Given the description of an element on the screen output the (x, y) to click on. 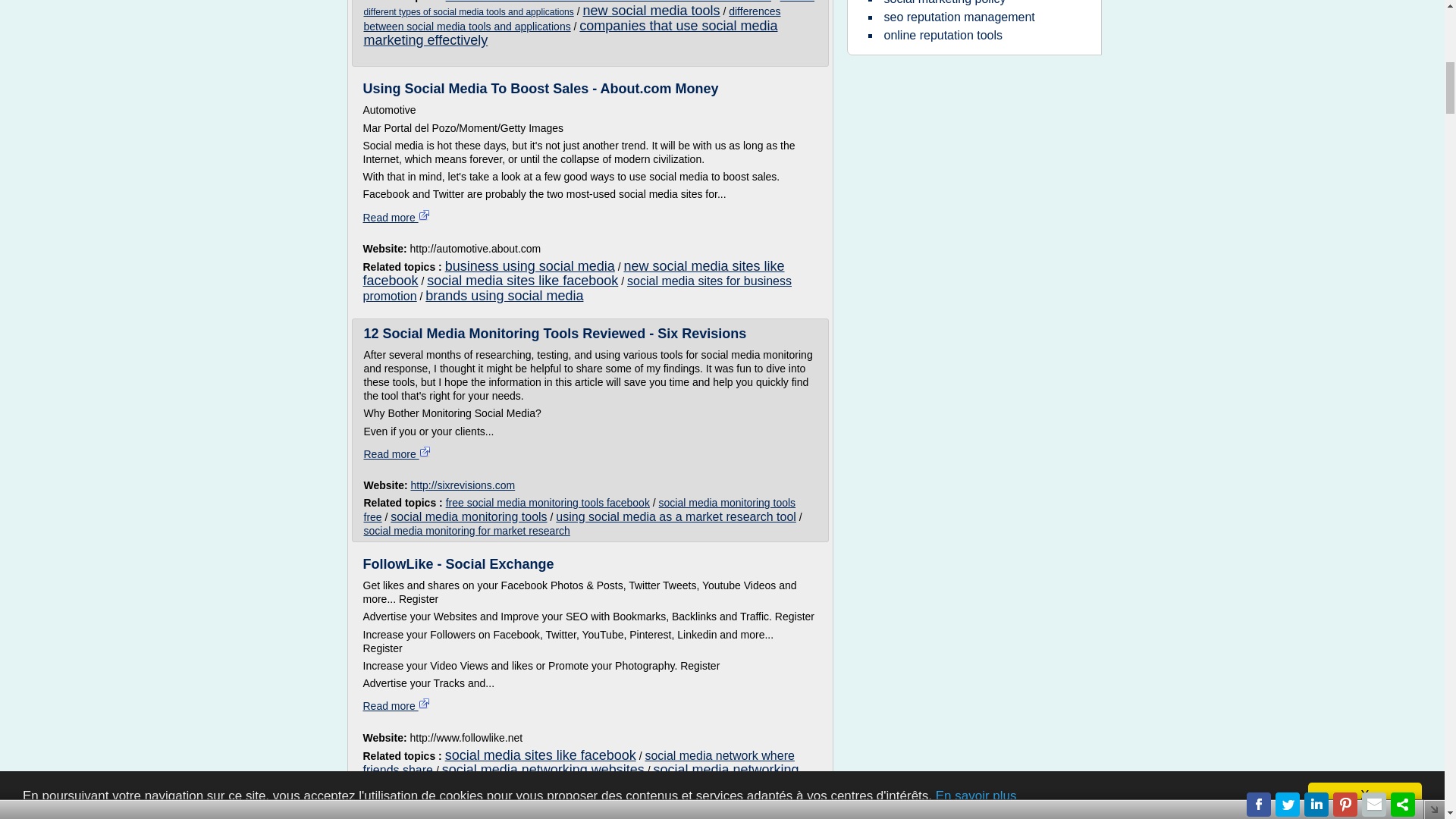
social marketing policy (944, 4)
online reputation tools (942, 35)
seo reputation management (958, 16)
